Given the description of an element on the screen output the (x, y) to click on. 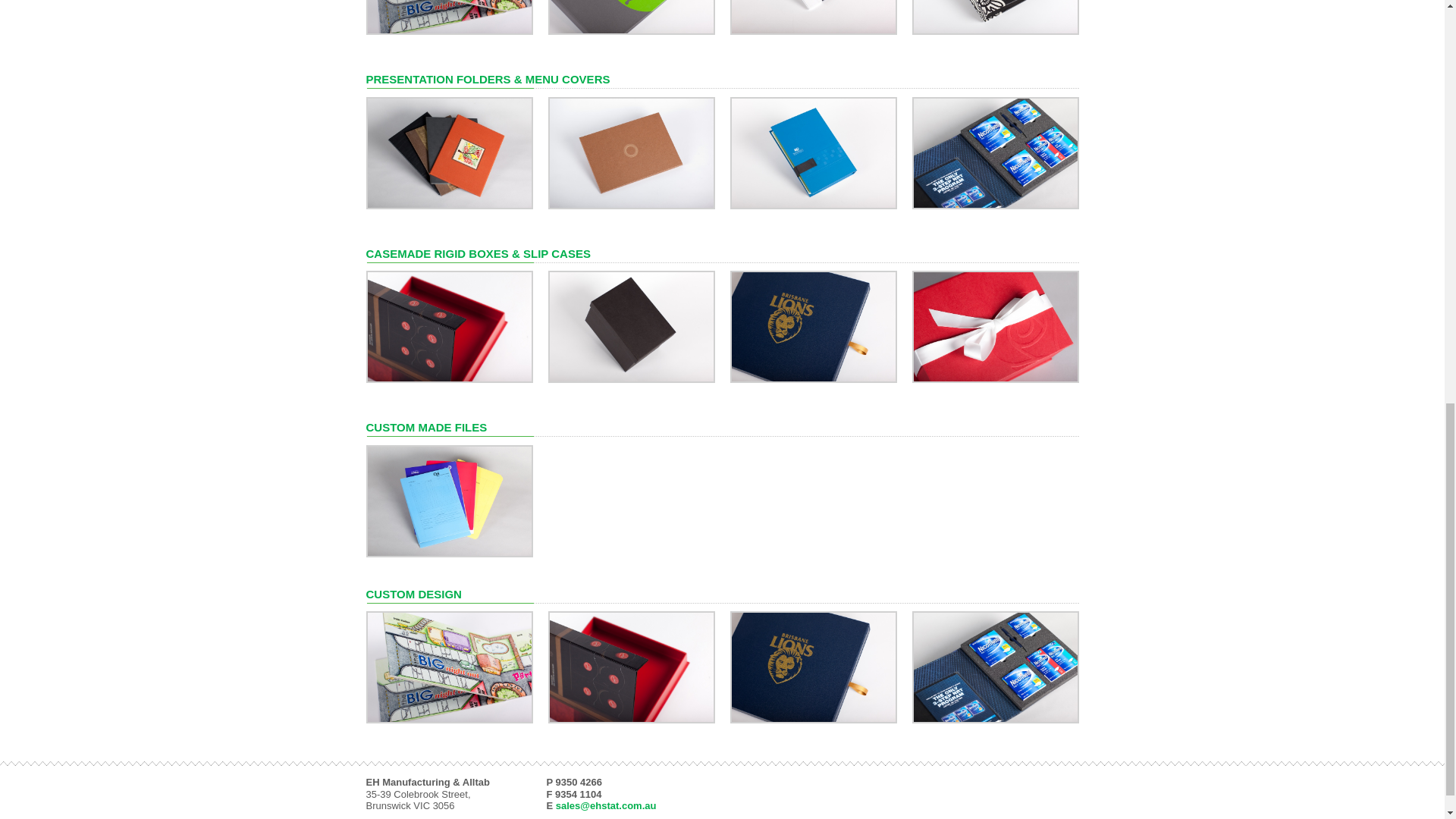
Menu and Presentation Covers (448, 152)
Game Board (448, 665)
Custom Presentation Cover with Pocket (812, 152)
Ring Bound Box with Magnetic Closure (448, 326)
Landscape Menu Cover (630, 152)
Magnetic Closure Clamshell Box (994, 326)
CUSTOM MADE FILES (425, 427)
Custom Product Presentation Folder and Kit (994, 152)
File Folders (448, 500)
Box and Lid (630, 326)
CUSTOM DESIGN (413, 594)
Slip Case with Tray for Booklet to be housed (812, 326)
Ring Bound Box with Magnetic Closure (630, 665)
